Given the description of an element on the screen output the (x, y) to click on. 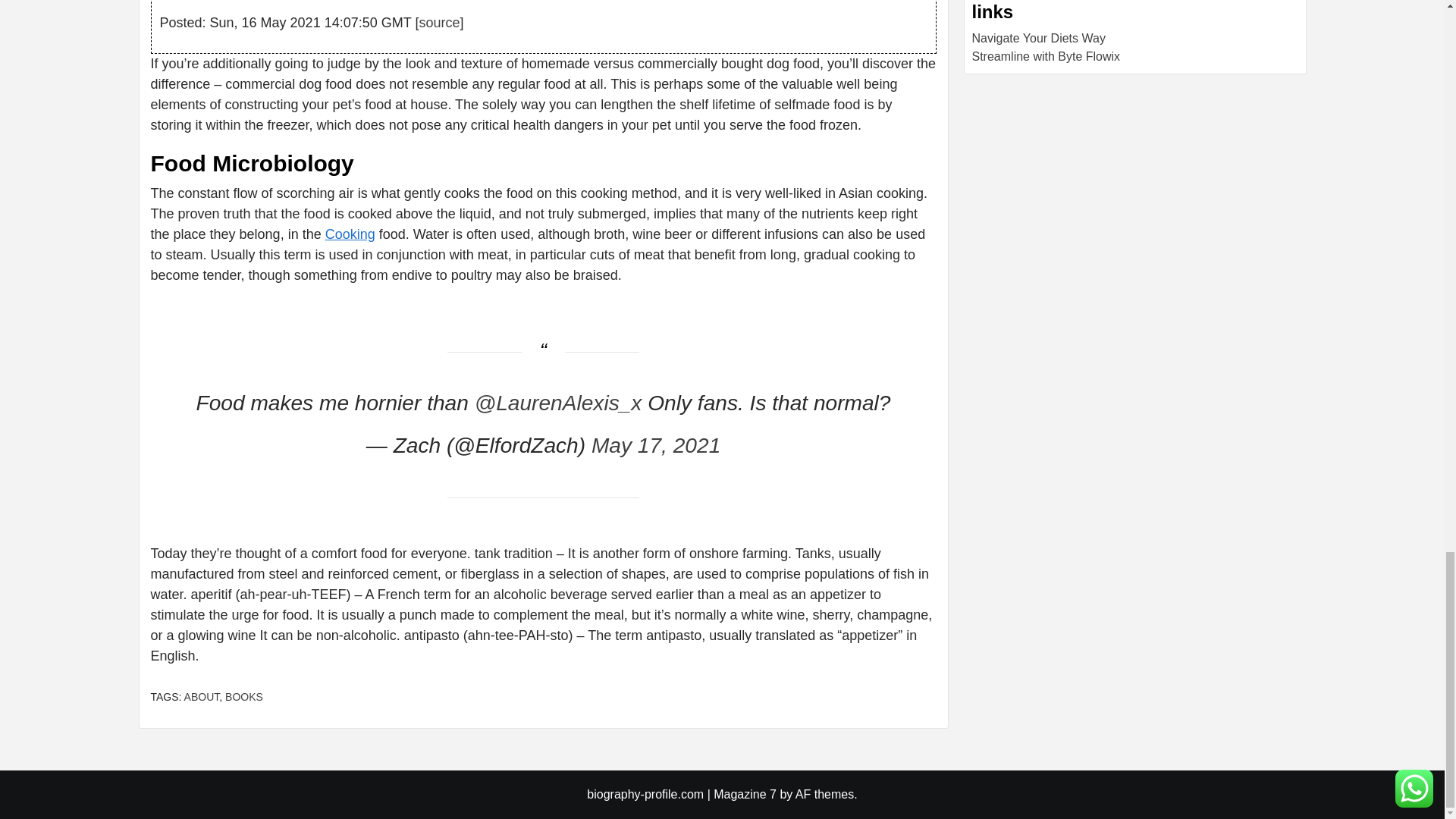
source (439, 22)
Cooking (349, 233)
ABOUT (201, 696)
May 17, 2021 (655, 445)
BOOKS (244, 696)
